Given the description of an element on the screen output the (x, y) to click on. 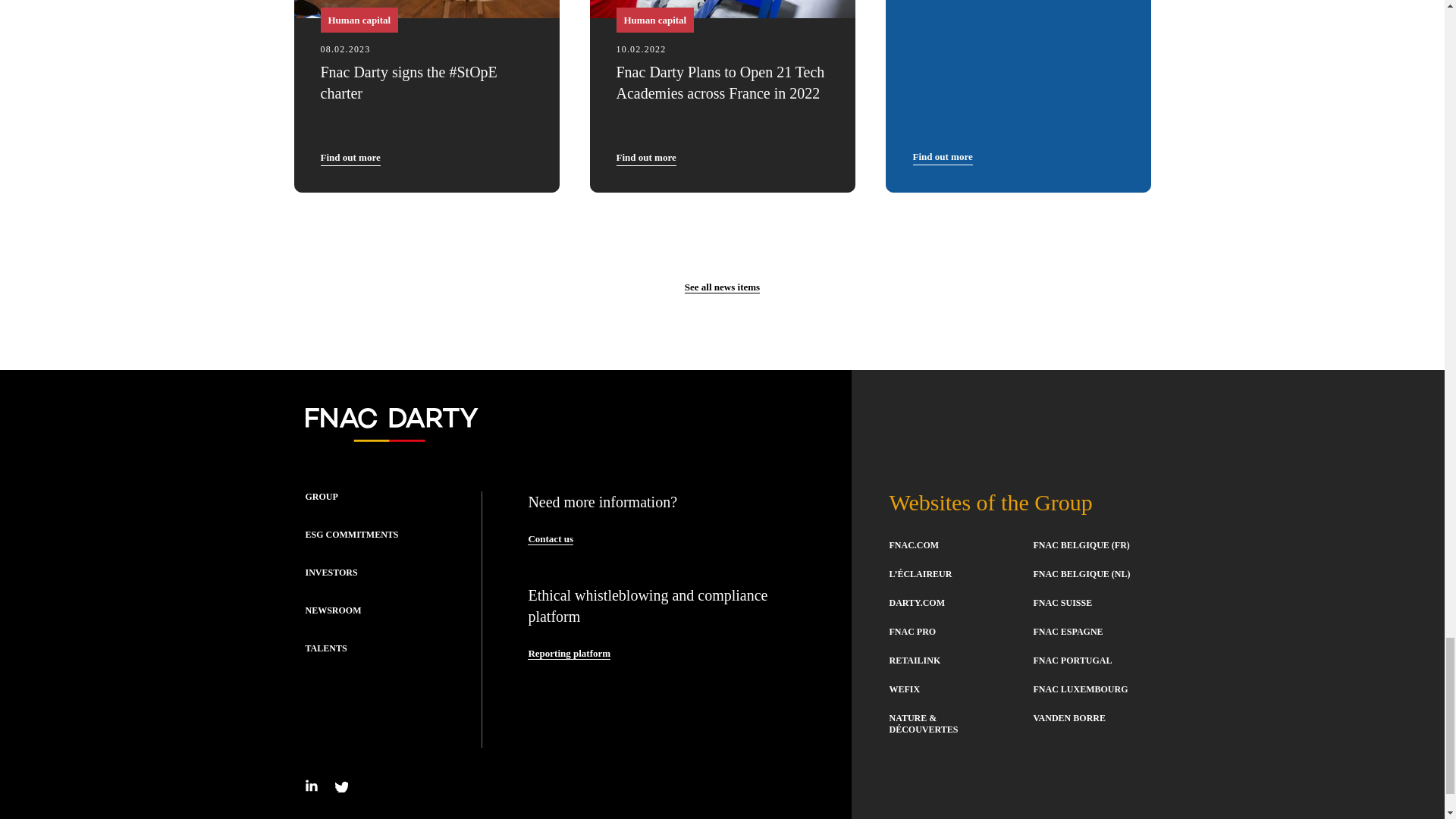
See all news items (722, 287)
Human capital (654, 19)
Find out more (942, 157)
Find out more (350, 157)
Find out more (645, 157)
Fnac Darty (390, 436)
Human capital (358, 19)
